Given the description of an element on the screen output the (x, y) to click on. 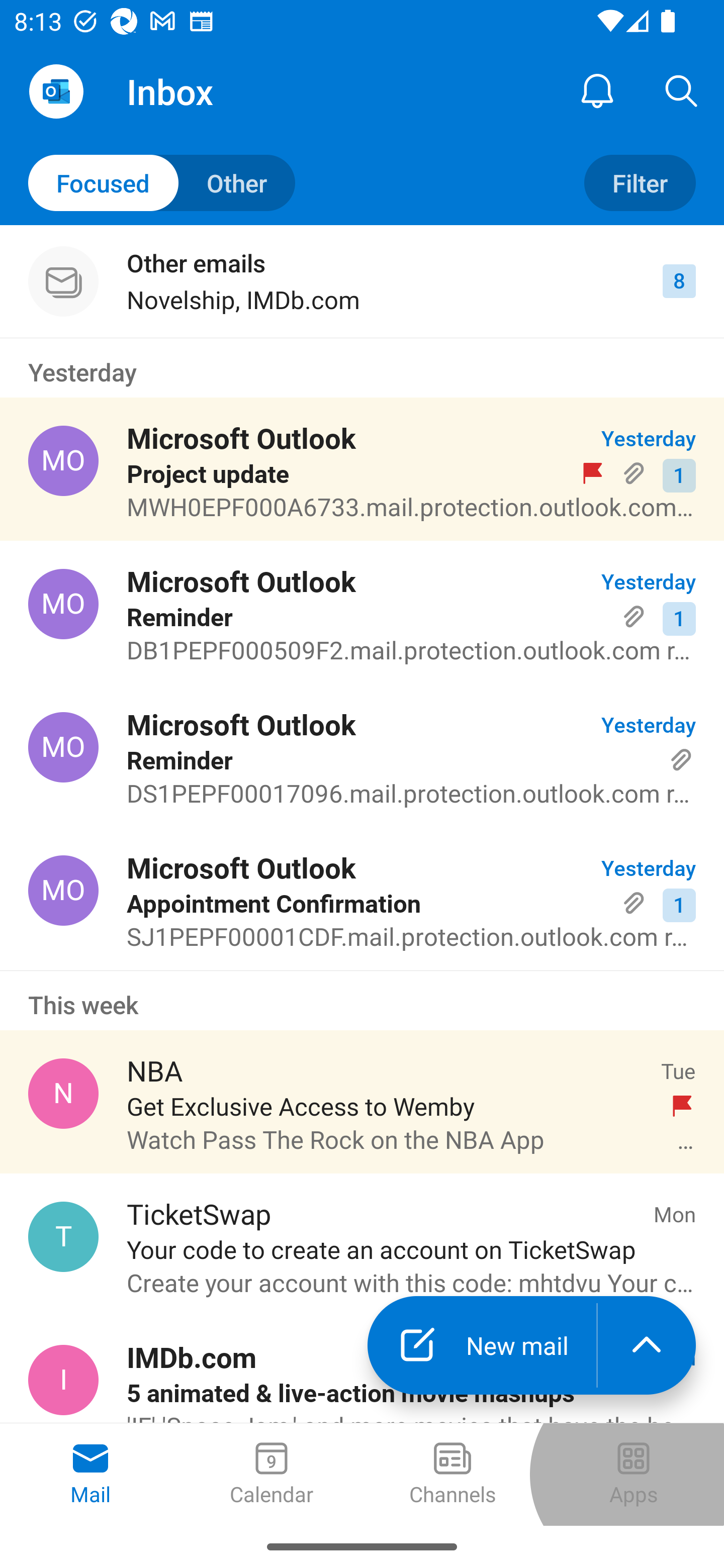
Notification Center (597, 90)
Search, ,  (681, 90)
Open Navigation Drawer (55, 91)
Toggle to other mails (161, 183)
Filter (639, 183)
Other emails Novelship, IMDb.com 8 (362, 281)
NBA, NBA@email.nba.com (63, 1093)
TicketSwap, info@ticketswap.com (63, 1236)
New mail (481, 1344)
launch the extended action menu (646, 1344)
IMDb.com, do-not-reply@imdb.com (63, 1380)
Calendar (271, 1474)
Channels (452, 1474)
Apps (633, 1474)
